Given the description of an element on the screen output the (x, y) to click on. 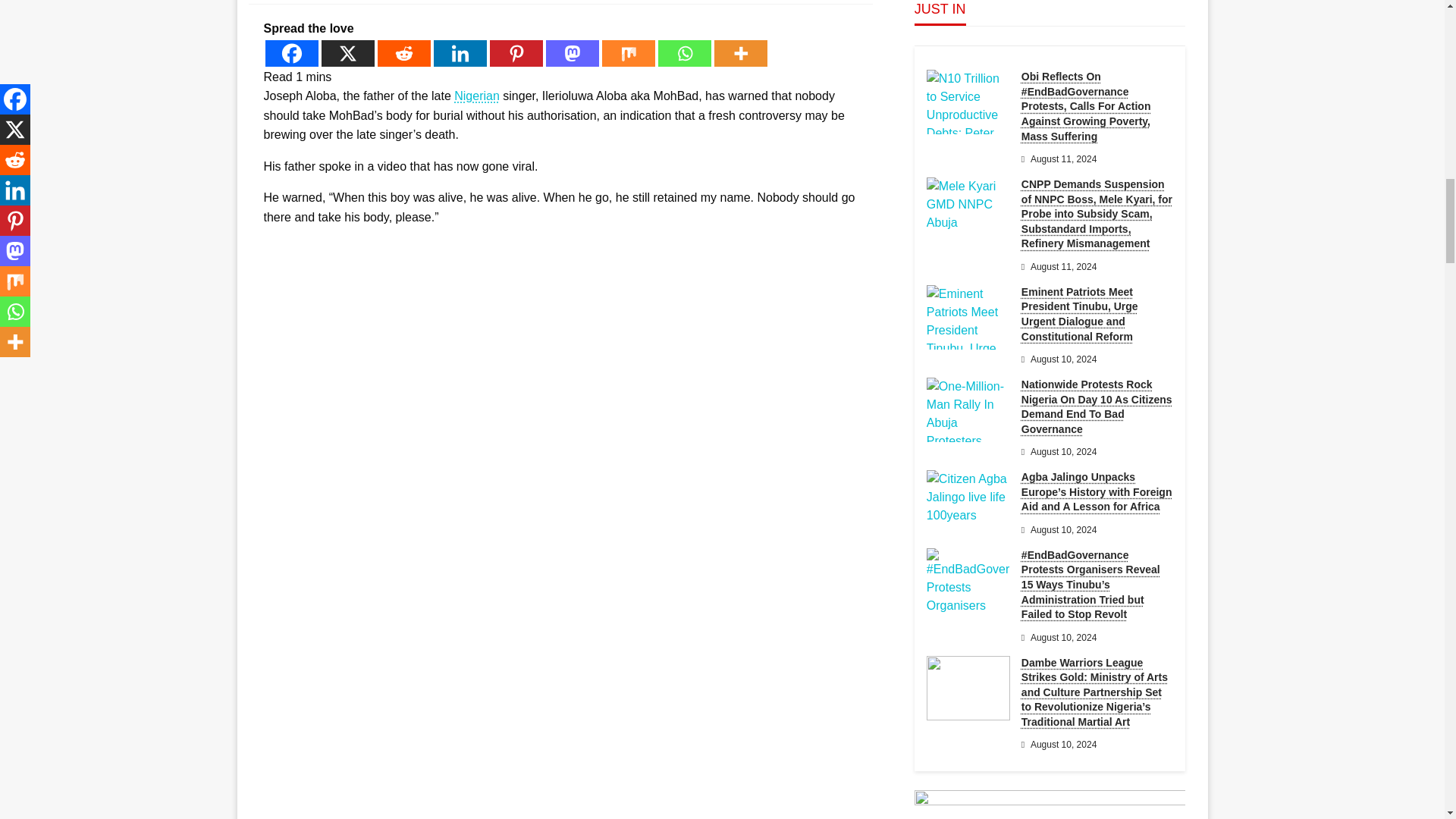
Linkedin (459, 53)
X (347, 53)
Facebook (291, 53)
Pinterest (516, 53)
Reddit (403, 53)
